Given the description of an element on the screen output the (x, y) to click on. 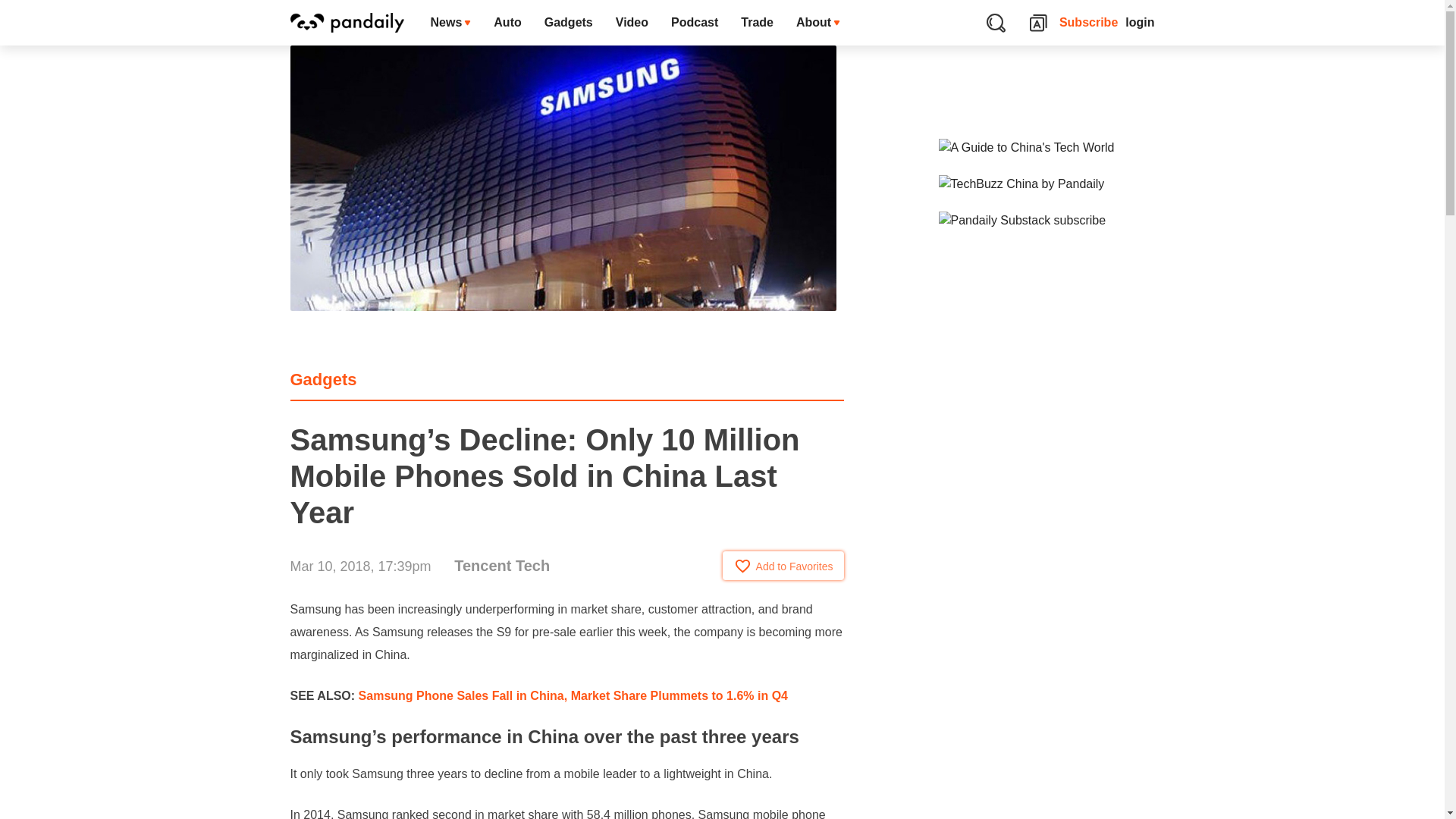
Add to Favorites (783, 565)
login (1139, 22)
News (450, 22)
Podcast (694, 22)
Subscribe (1088, 22)
Trade (756, 22)
Gadgets (568, 22)
Auto (506, 22)
Tencent Tech (502, 565)
About (817, 22)
Gadgets (322, 379)
Video (631, 22)
Mar 10, 2018, 17:39pm (359, 566)
